Given the description of an element on the screen output the (x, y) to click on. 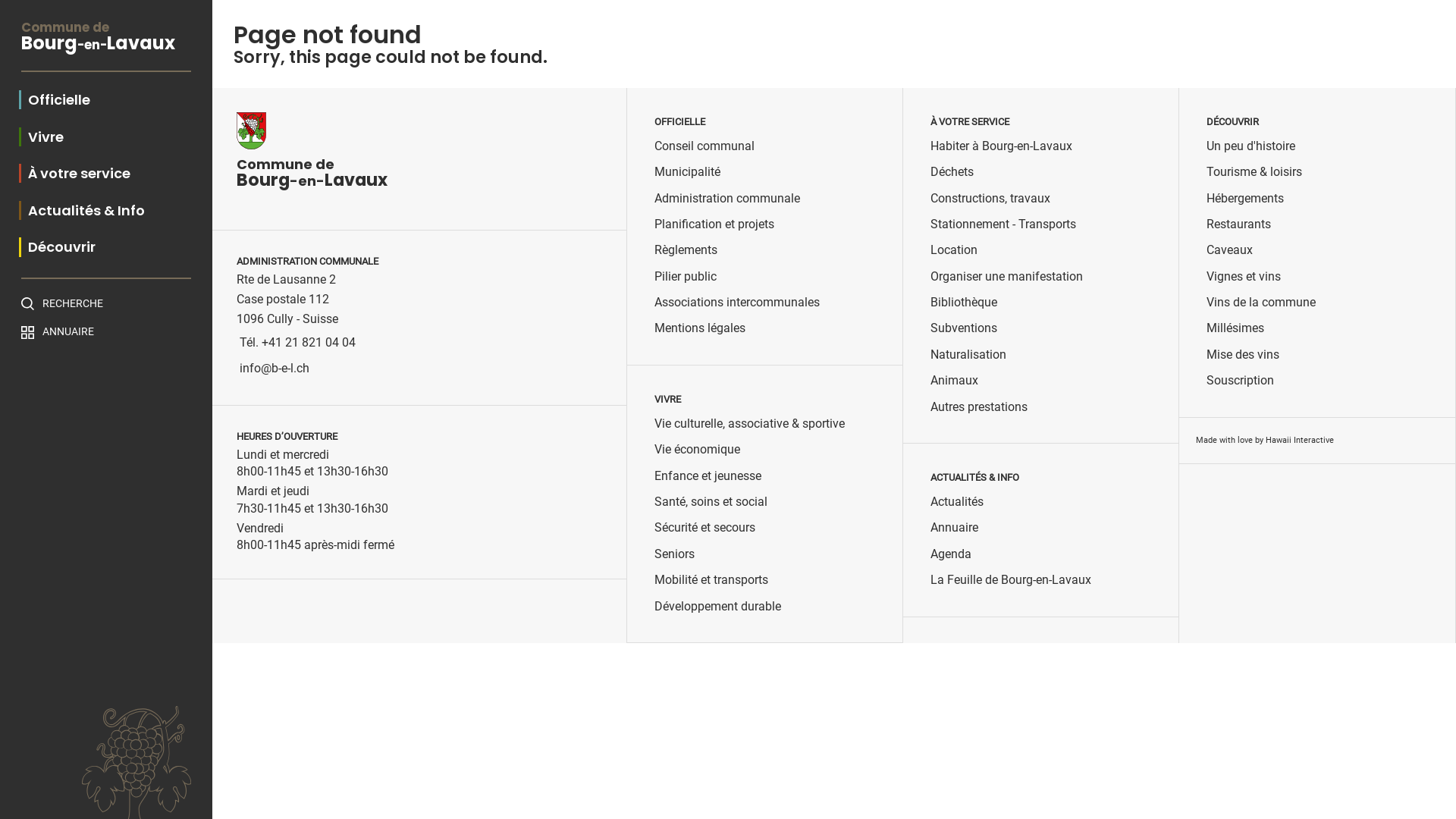
Officielle Element type: text (54, 99)
Animaux Element type: text (954, 380)
Stationnement - Transports Element type: text (1003, 224)
Naturalisation Element type: text (968, 354)
Planification et projets Element type: text (714, 224)
Vins de la commune Element type: text (1260, 302)
VIVRE Element type: text (667, 399)
ANNUAIRE Element type: text (106, 332)
Un peu d'histoire Element type: text (1250, 145)
Restaurants Element type: text (1238, 224)
Constructions, travaux Element type: text (990, 198)
Vivre Element type: text (40, 136)
Autres prestations Element type: text (978, 406)
Pilier public Element type: text (685, 276)
Commune de
Bourg-en-Lavaux Element type: text (106, 46)
RECHERCHE Element type: text (106, 303)
Caveaux Element type: text (1229, 249)
Subventions Element type: text (963, 327)
Administration communale Element type: text (727, 198)
Enfance et jeunesse Element type: text (707, 475)
Seniors Element type: text (674, 553)
Organiser une manifestation Element type: text (1006, 276)
Made with love by Hawaii Interactive Element type: text (1264, 440)
Vignes et vins Element type: text (1243, 276)
La Feuille de Bourg-en-Lavaux Element type: text (1010, 579)
Conseil communal Element type: text (704, 145)
Souscription Element type: text (1240, 380)
Tourisme & loisirs Element type: text (1254, 171)
Vie culturelle, associative & sportive Element type: text (749, 423)
info@b-e-l.ch Element type: text (274, 368)
Mise des vins Element type: text (1242, 354)
Annuaire Element type: text (954, 527)
Associations intercommunales Element type: text (736, 302)
Location Element type: text (953, 249)
OFFICIELLE Element type: text (679, 121)
Agenda Element type: text (950, 553)
